Given the description of an element on the screen output the (x, y) to click on. 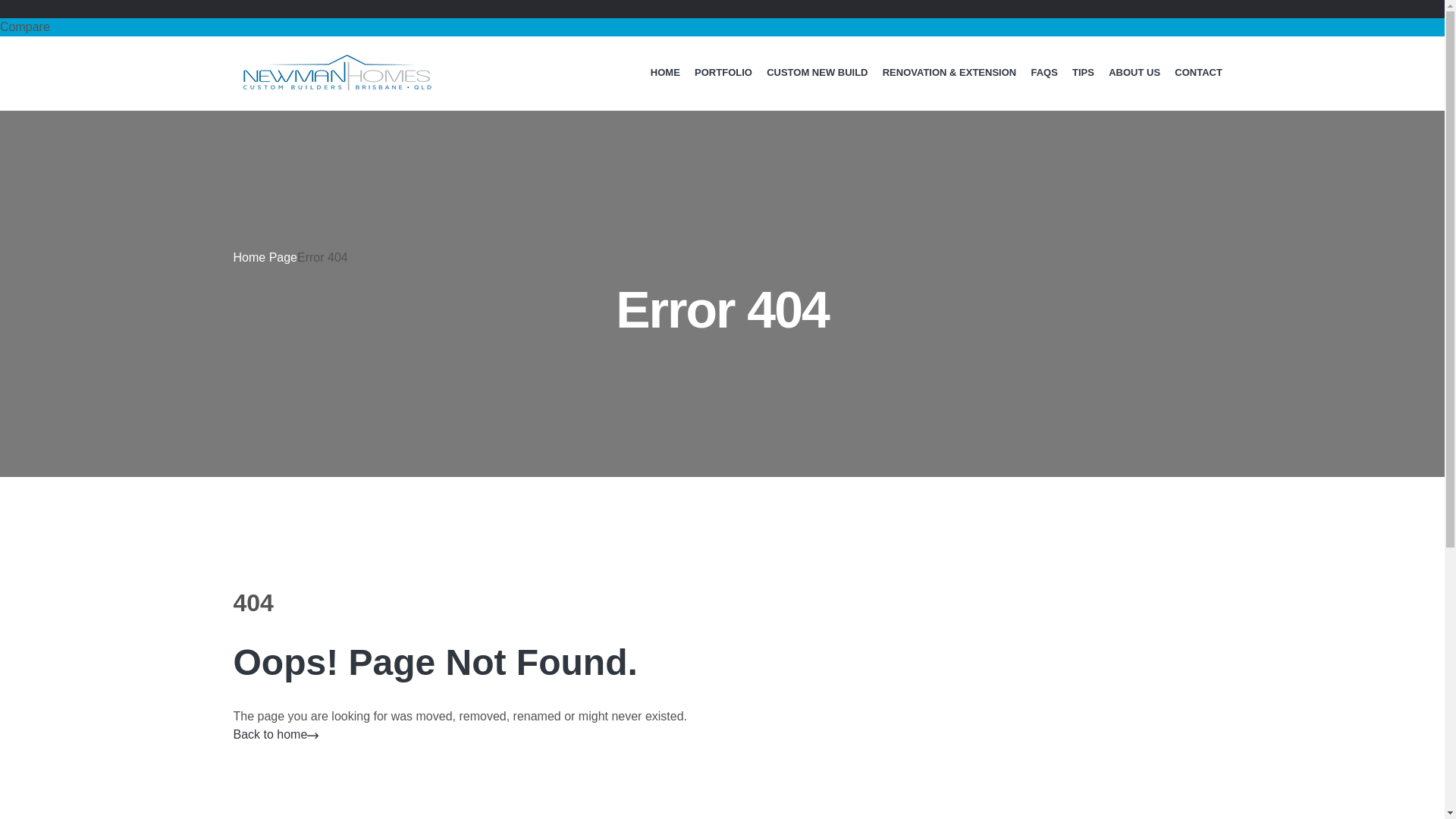
TIPS Element type: text (1082, 72)
FAQS Element type: text (1044, 72)
BOOK APPOINTMENT Element type: text (1121, 17)
CONTACT Element type: text (1198, 72)
ABOUT US Element type: text (1134, 72)
Home Page Element type: text (265, 257)
Call us: 0499 881 137 Element type: text (960, 17)
Email: info@newmanhomes.com.au Element type: text (803, 17)
CUSTOM NEW BUILD Element type: text (817, 72)
PORTFOLIO Element type: text (723, 72)
Back to home Element type: text (276, 734)
RENOVATION & EXTENSION Element type: text (949, 72)
HOME Element type: text (665, 72)
